Given the description of an element on the screen output the (x, y) to click on. 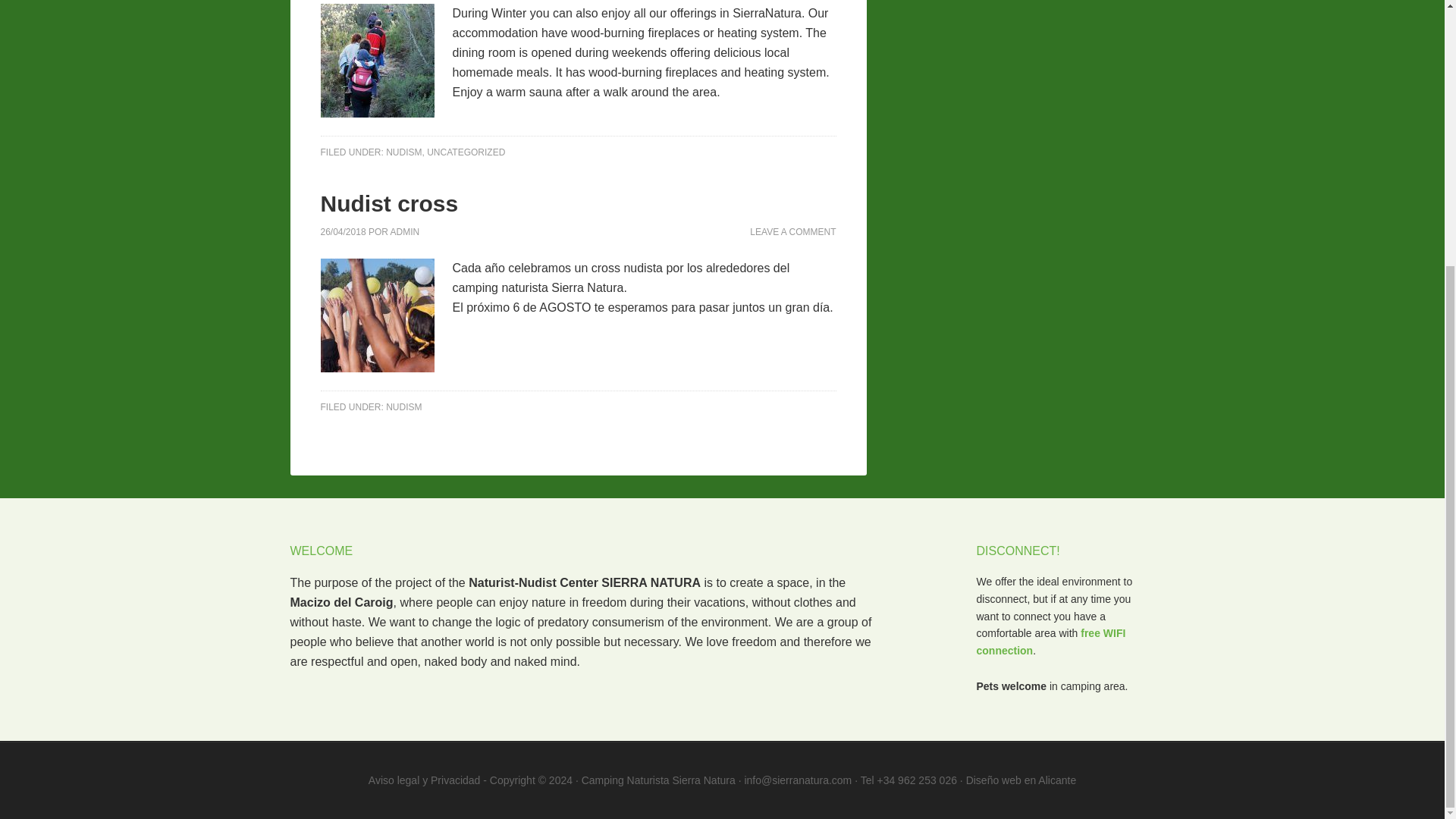
Nudist cross (389, 203)
NUDISM (403, 406)
ADMIN (405, 231)
NUDISM (403, 151)
UNCATEGORIZED (465, 151)
LEAVE A COMMENT (792, 231)
